Given the description of an element on the screen output the (x, y) to click on. 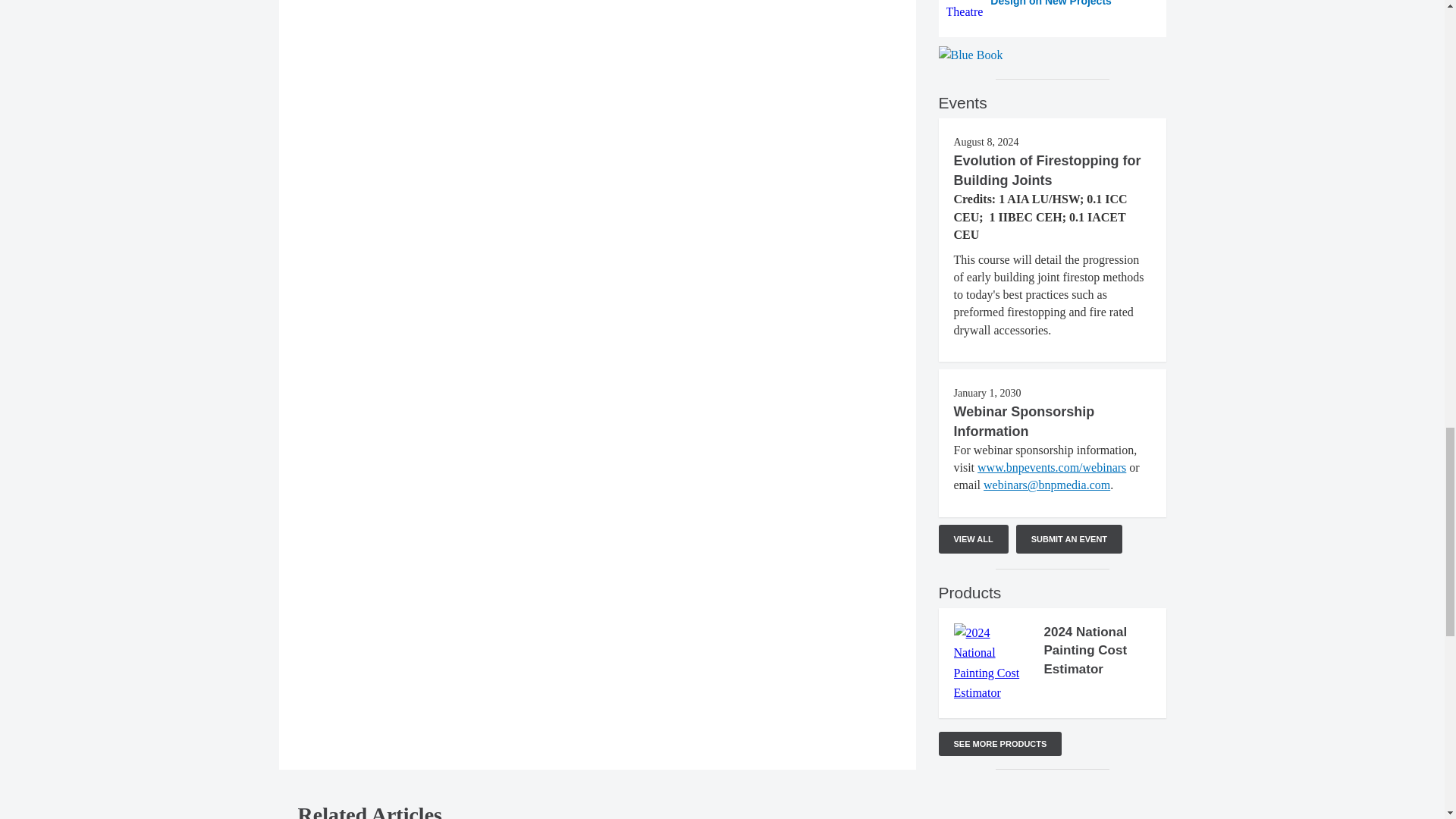
Webinar Sponsorship Information (1023, 421)
Evolution of Firestopping for Building Joints (1047, 170)
